Given the description of an element on the screen output the (x, y) to click on. 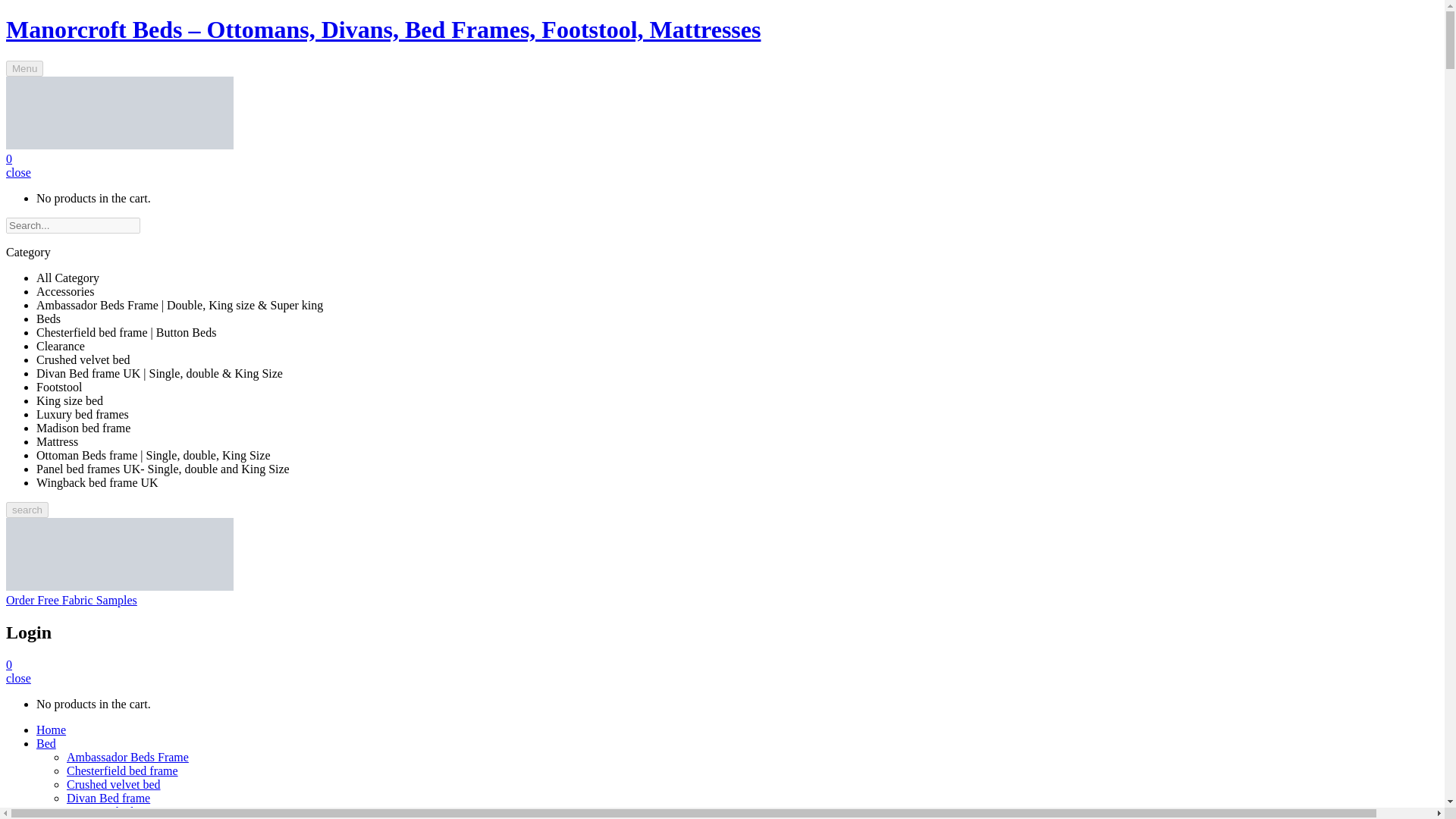
search (26, 509)
Ambassador Beds Frame (127, 757)
King size bed (99, 811)
Menu (24, 68)
close (17, 677)
View your shopping cart (17, 172)
close (17, 172)
Home (50, 729)
Chesterfield bed frame (121, 770)
Order Free Fabric Samples (70, 599)
Bed (46, 743)
View your shopping cart (17, 677)
Divan Bed frame (107, 797)
Crushed velvet bed (113, 784)
